Given the description of an element on the screen output the (x, y) to click on. 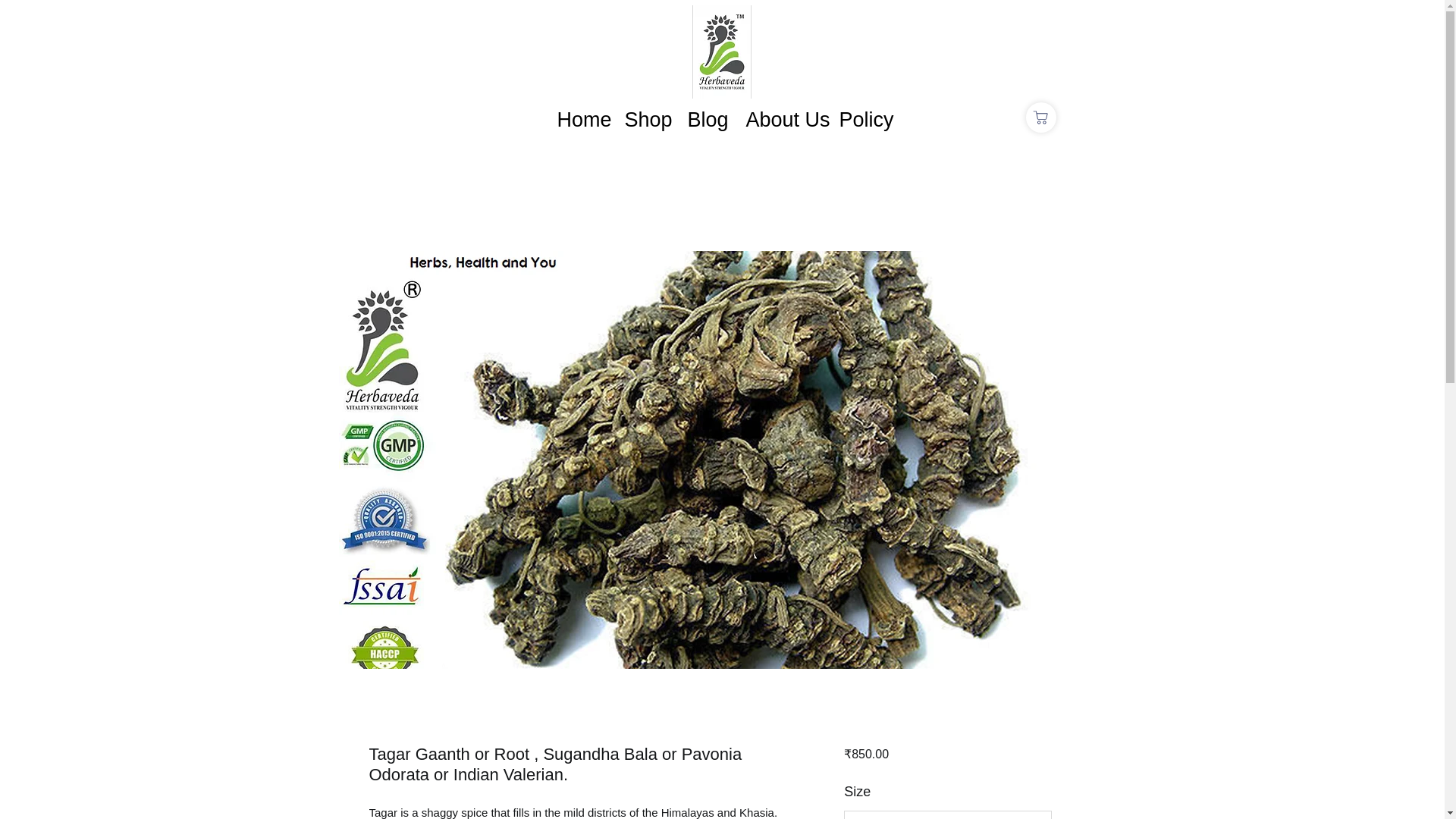
Blog (706, 117)
Shop (643, 117)
About Us (780, 117)
Home (579, 117)
Policy (863, 117)
1kg (947, 814)
